Given the description of an element on the screen output the (x, y) to click on. 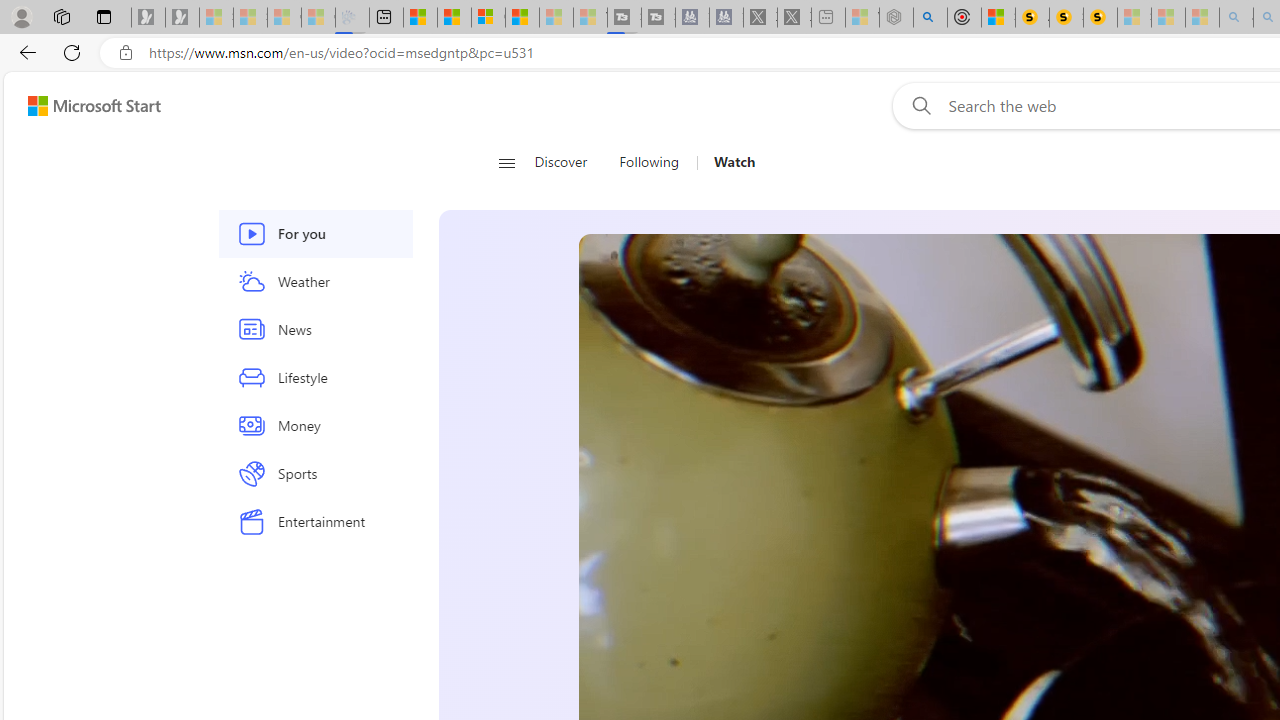
Newsletter Sign Up - Sleeping (182, 17)
Overview (488, 17)
Nordace - Summer Adventures 2024 - Sleeping (895, 17)
